Given the description of an element on the screen output the (x, y) to click on. 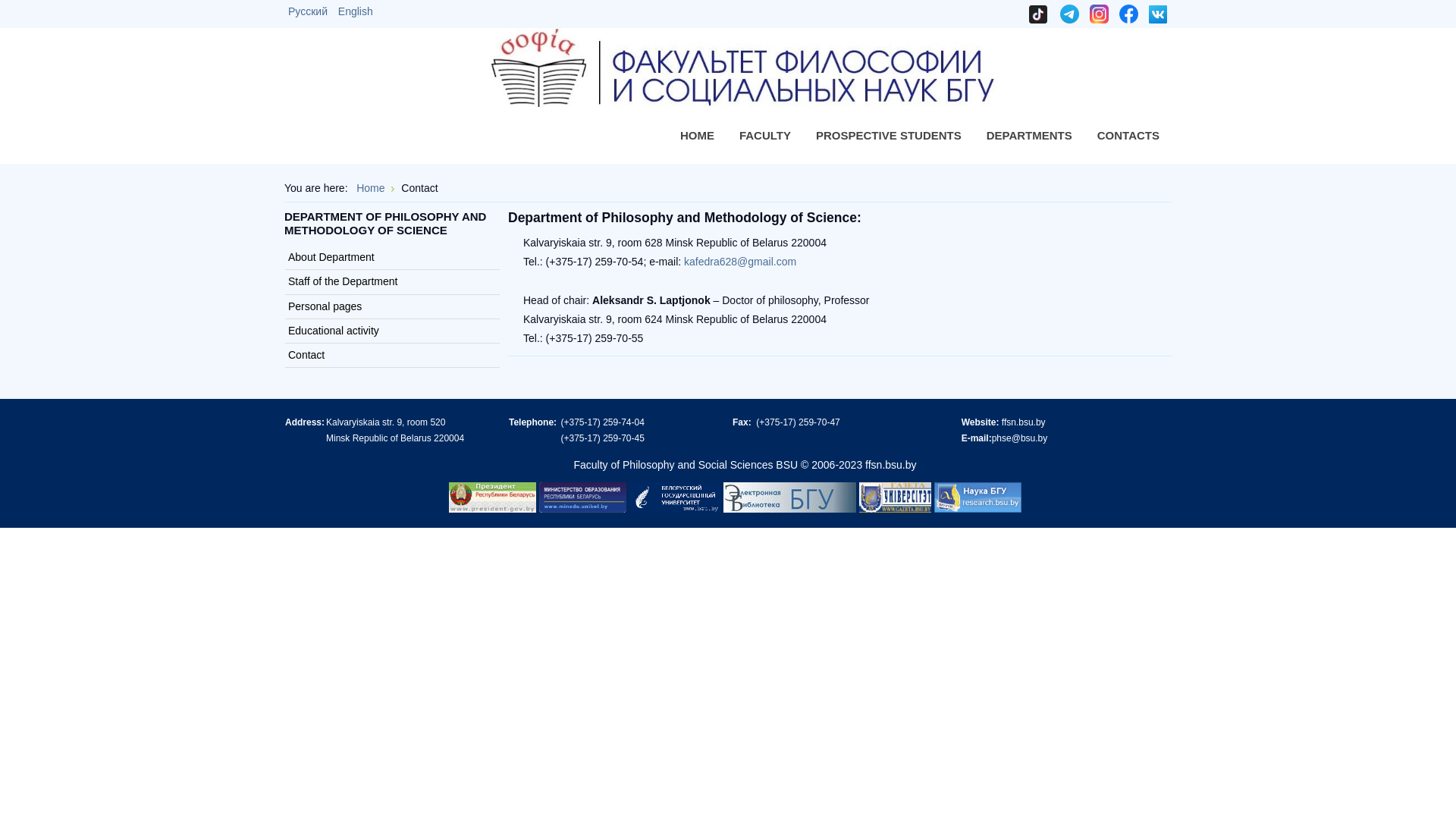
Home Element type: text (370, 188)
Personal pages Element type: text (392, 306)
About Department Element type: text (392, 257)
English Element type: text (355, 11)
ffsn.bsu.by Element type: text (890, 464)
Facebook Element type: hover (1128, 12)
FACULTY Element type: text (765, 135)
Contact Element type: text (392, 355)
Staff of the Department Element type: text (392, 281)
Instagram Element type: hover (1098, 12)
kafedra628@gmail.com Element type: text (740, 261)
Educational activity Element type: text (392, 330)
CONTACTS Element type: text (1128, 135)
HOME Element type: text (697, 135)
DEPARTMENTS Element type: text (1029, 135)
Tiktok Element type: hover (1041, 12)
PROSPECTIVE STUDENTS Element type: text (888, 135)
